Given the description of an element on the screen output the (x, y) to click on. 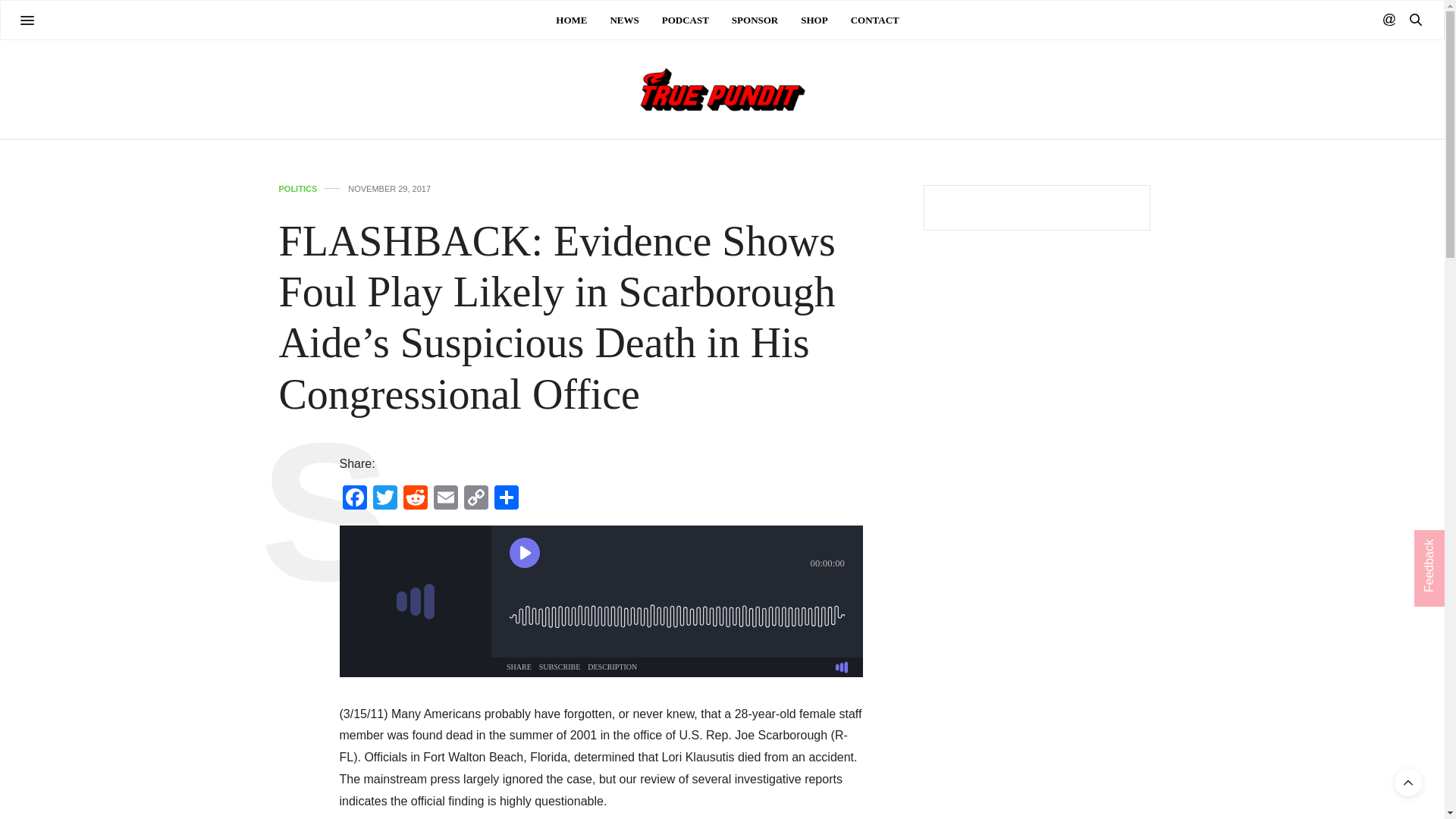
Twitter (384, 499)
Twitter (384, 499)
Facebook (354, 499)
True Pundit (721, 89)
Copy Link (476, 499)
PODCAST (685, 19)
SPONSOR (754, 19)
Email (445, 499)
Copy Link (476, 499)
Facebook (354, 499)
